Given the description of an element on the screen output the (x, y) to click on. 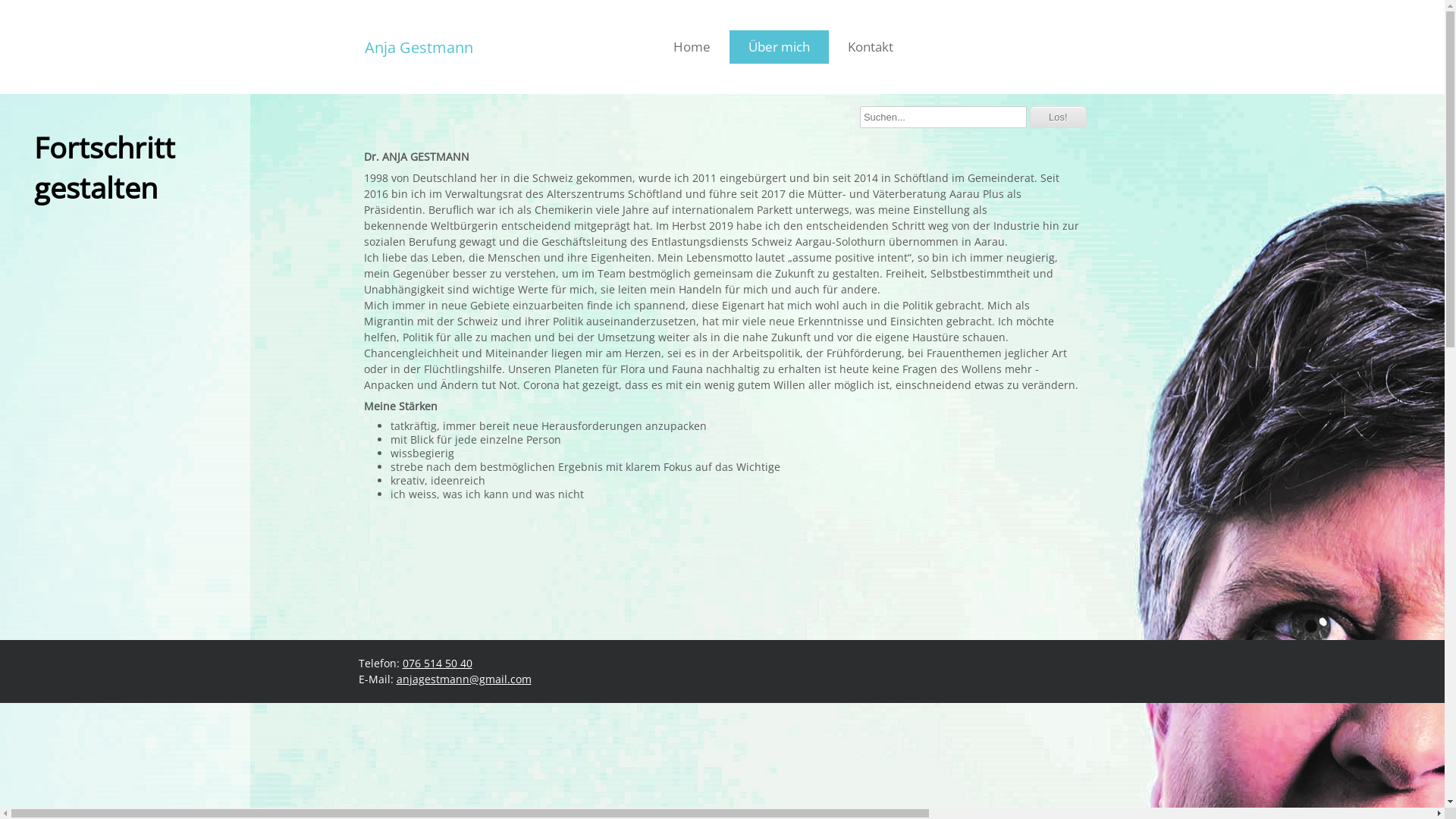
Anja Gestmann Element type: text (418, 44)
Grossmutter Anja Element type: hover (484, 602)
076 514 50 40 Element type: text (436, 662)
anjagestmann@gmail.com Element type: text (462, 678)
Los! Element type: text (1057, 117)
Netzwerken am kantonalen Alterskongress Element type: hover (723, 582)
Auftrakt zum Frauenstreik im Bezirk Kulm Element type: hover (723, 523)
So viele Leute an einem Samstag Vormittag! Element type: hover (484, 562)
Aufruf zum Frauenstreik in Aarau Element type: hover (962, 523)
Workshop am kantonalen Alterskongress Element type: hover (723, 562)
Kontakt Element type: text (870, 46)
Home Element type: text (691, 46)
So ist das leider Element type: hover (723, 602)
